Given the description of an element on the screen output the (x, y) to click on. 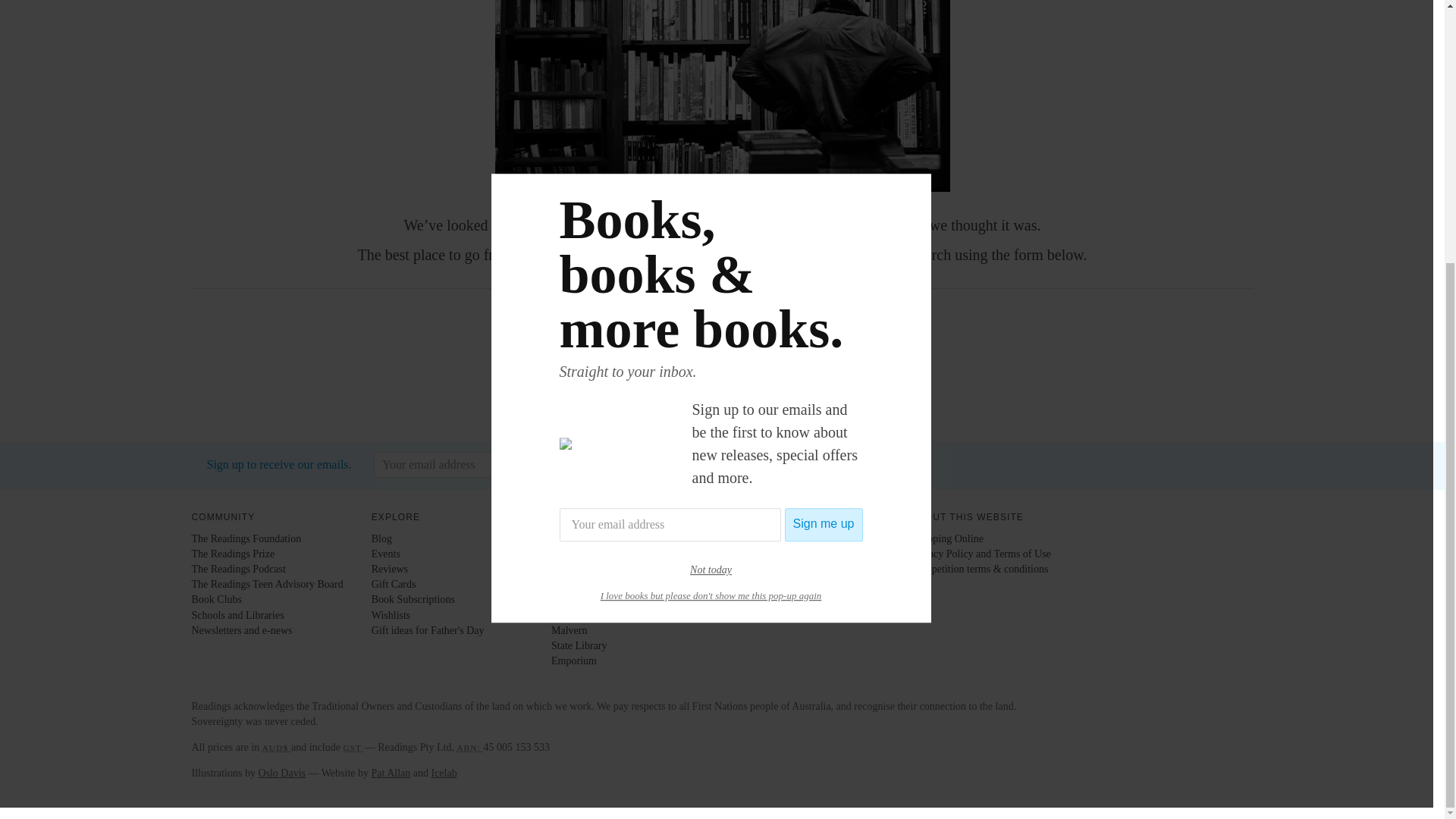
1 (657, 379)
I love books but please don't show me this pop-up again (710, 216)
Sign me up (823, 145)
Australian Dollars (276, 747)
Not today (711, 192)
1 (756, 379)
1 (706, 379)
Australian Business Number (470, 747)
Goods and Services Tax (353, 747)
